Given the description of an element on the screen output the (x, y) to click on. 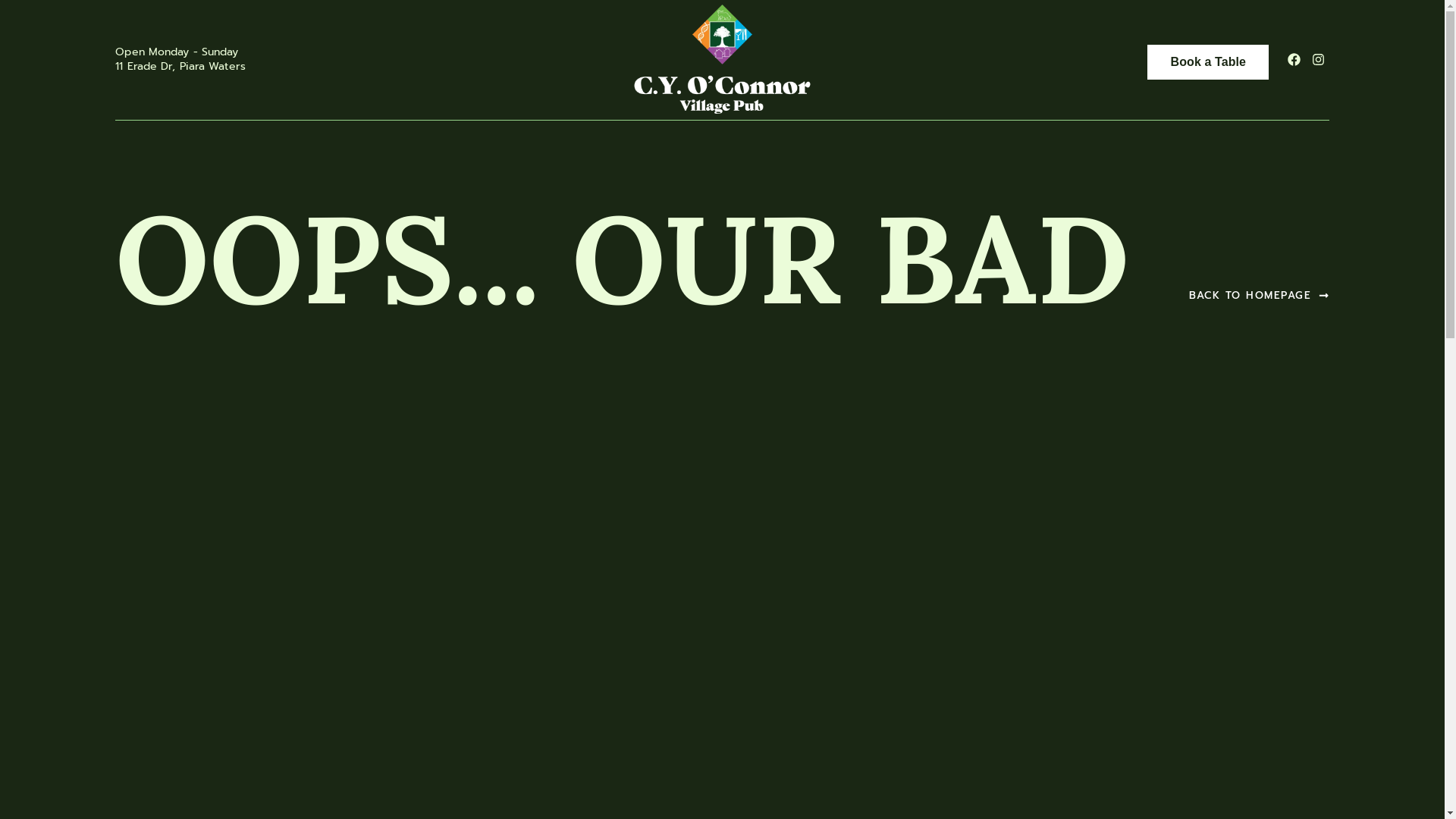
Book a Table Element type: text (1207, 61)
BACK TO HOMEPAGE Element type: text (1258, 296)
